Given the description of an element on the screen output the (x, y) to click on. 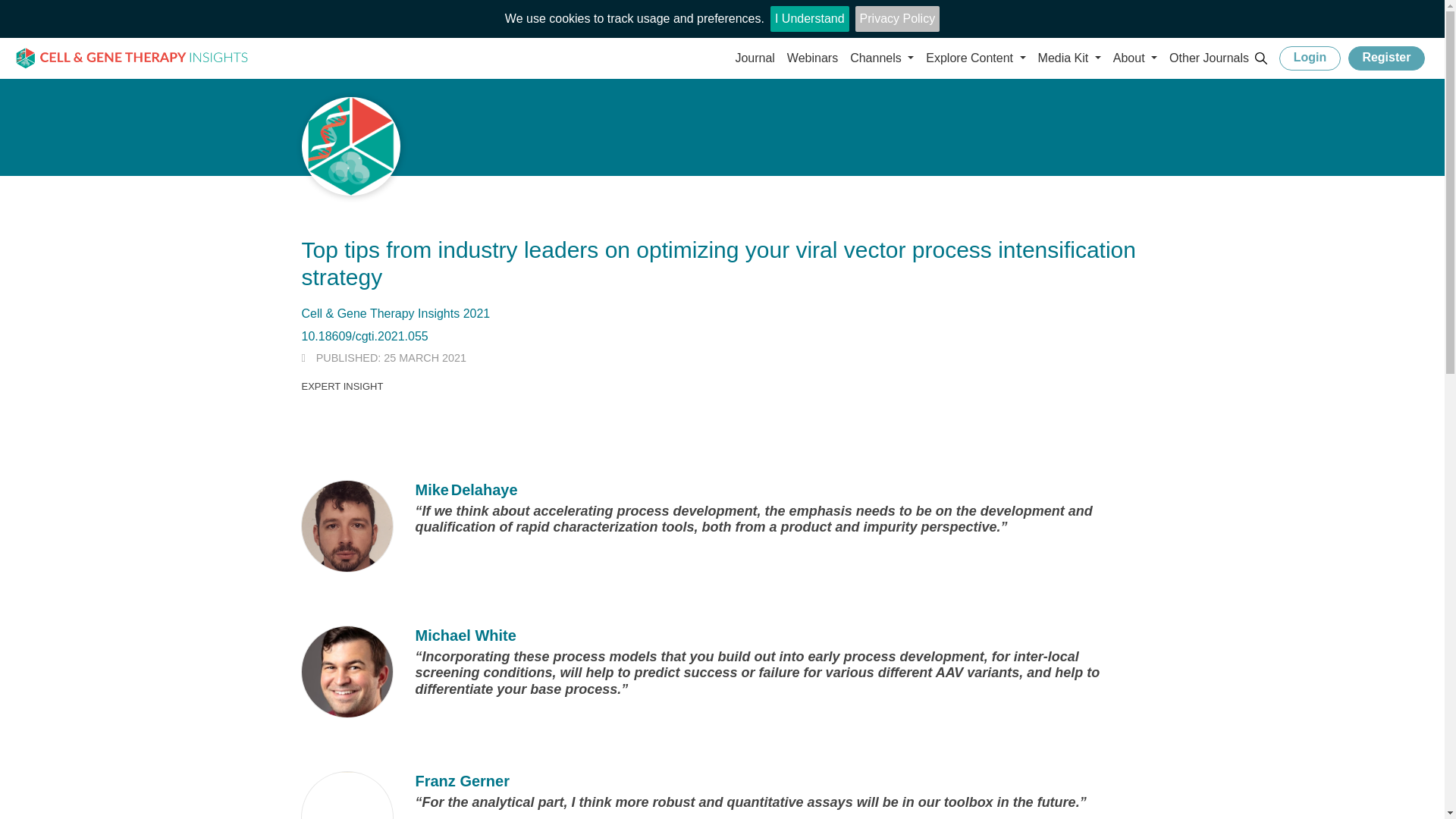
I Understand (809, 18)
Media Kit (1069, 57)
BioInsights (131, 58)
About (1134, 57)
Channels (882, 57)
Other Journals (1209, 57)
Register (1386, 57)
Webinars (812, 57)
Journal (754, 57)
Login (1309, 57)
